Given the description of an element on the screen output the (x, y) to click on. 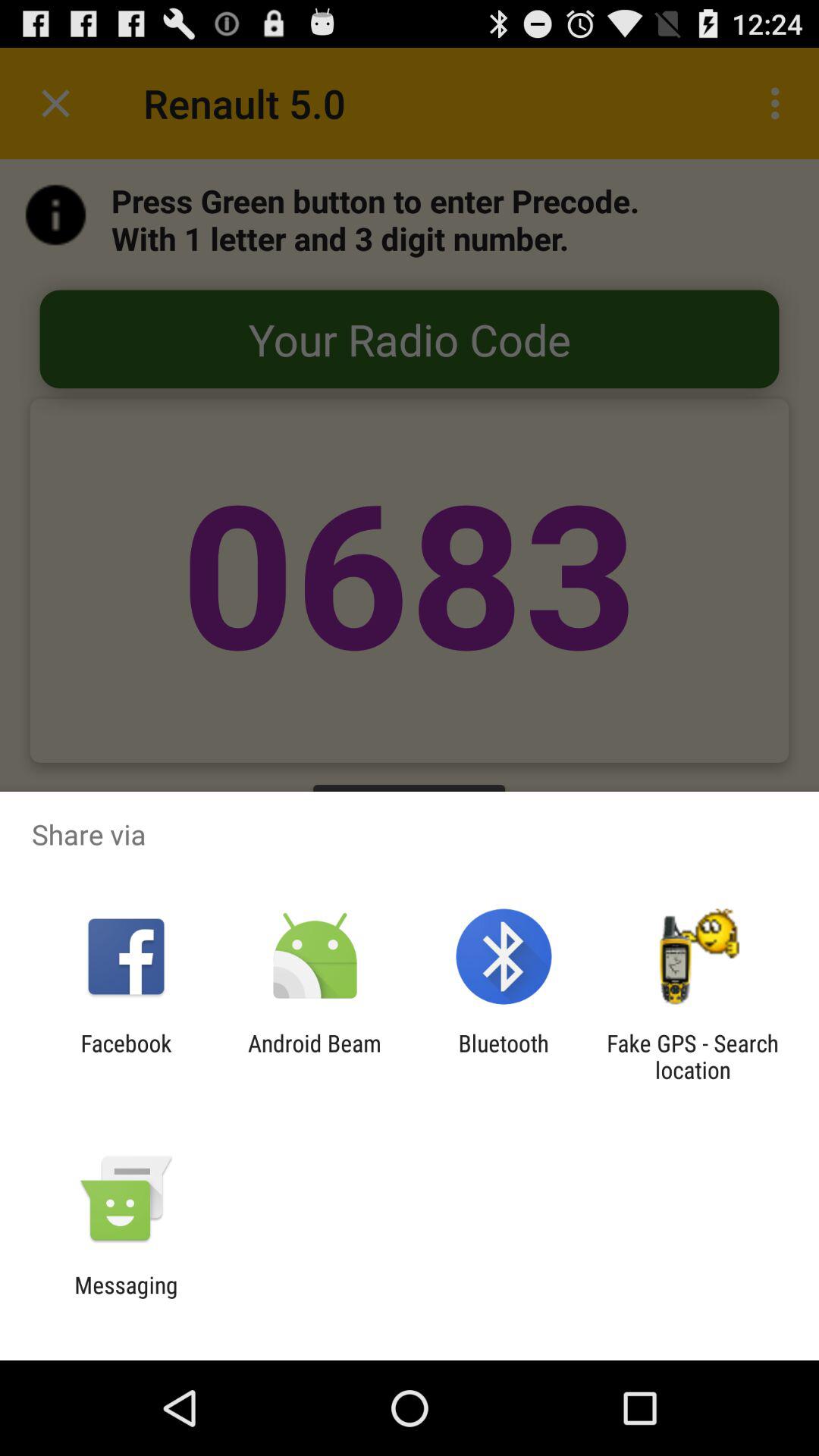
scroll until the android beam app (314, 1056)
